Given the description of an element on the screen output the (x, y) to click on. 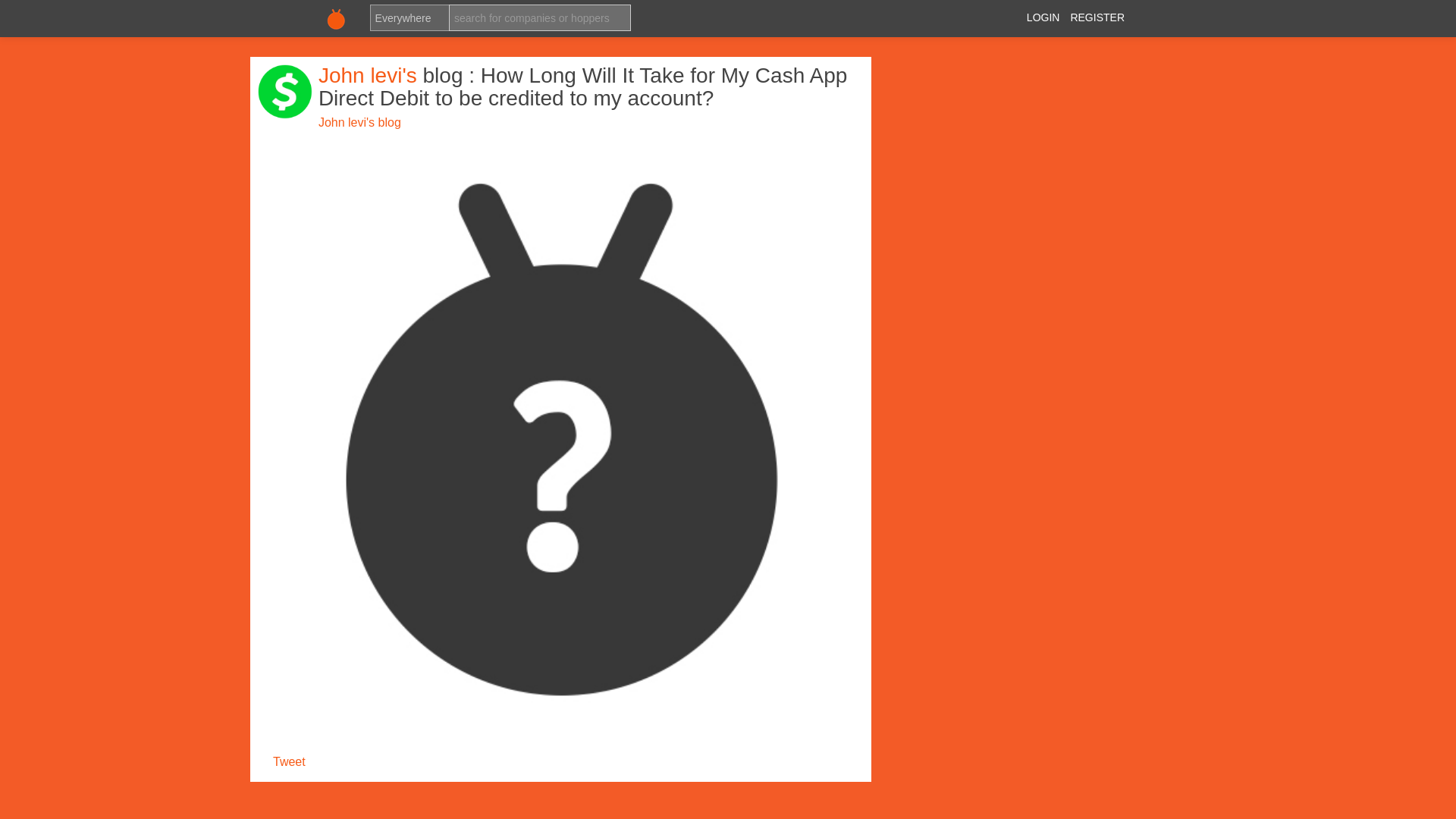
Jobhop (336, 18)
REGISTER (1096, 17)
LOGIN (1043, 17)
John levi's blog (359, 122)
John levi's (370, 74)
